Given the description of an element on the screen output the (x, y) to click on. 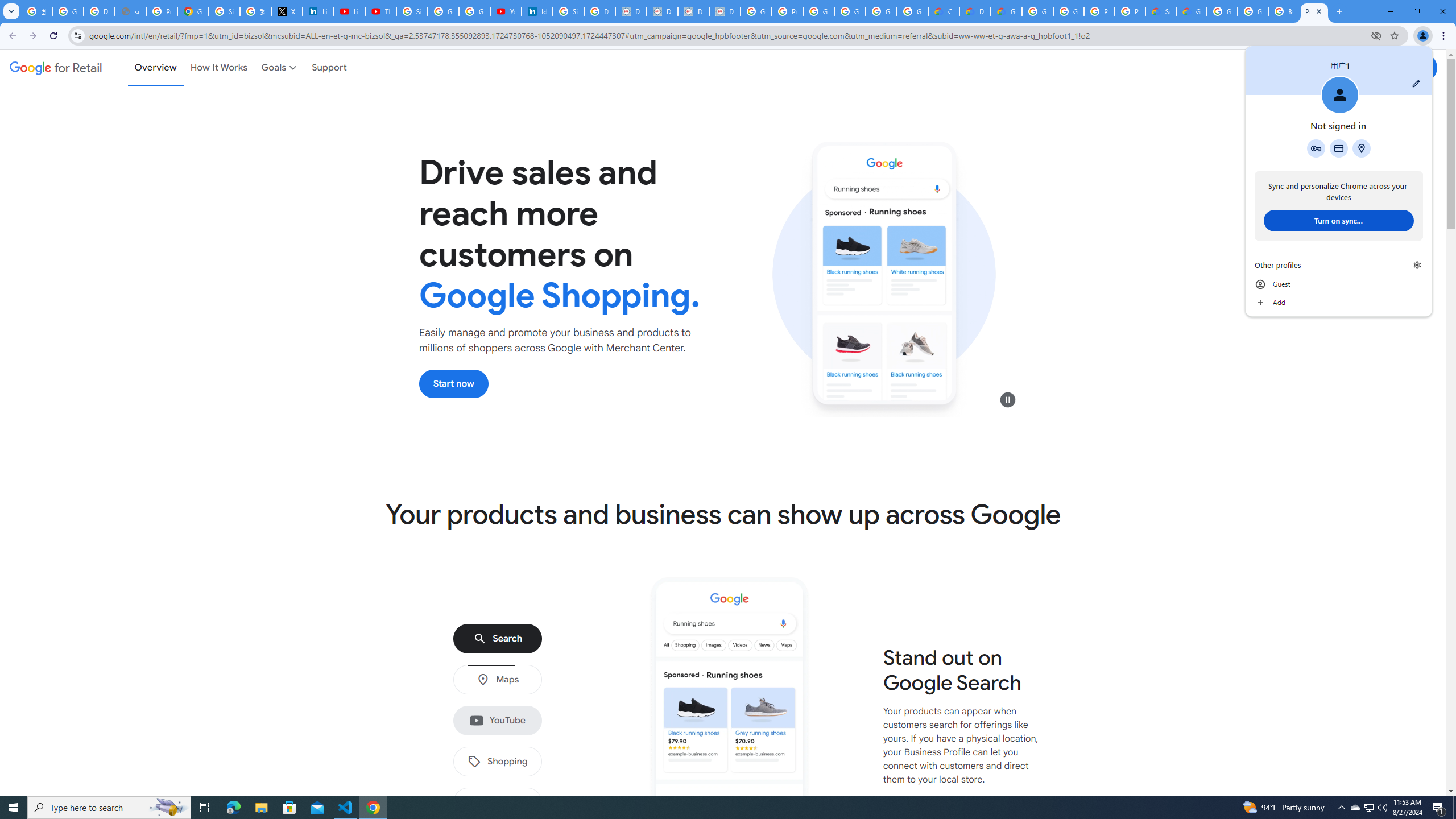
Visual Studio Code - 1 running window (345, 807)
Maps (496, 680)
X (286, 11)
Sign in - Google Accounts (568, 11)
Support (328, 67)
Guest (1338, 284)
Show desktop (1454, 807)
Type here to search (108, 807)
